Given the description of an element on the screen output the (x, y) to click on. 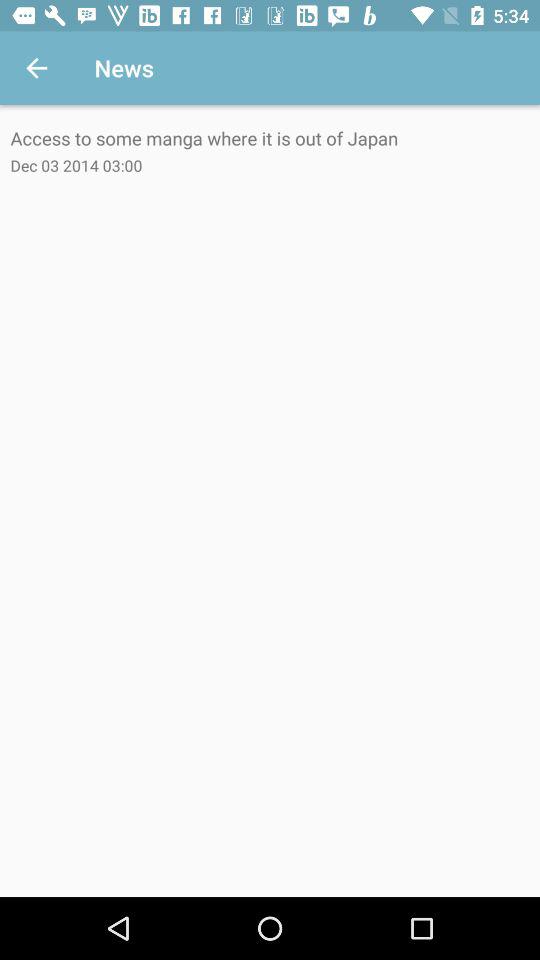
turn off item above access to some item (36, 68)
